Given the description of an element on the screen output the (x, y) to click on. 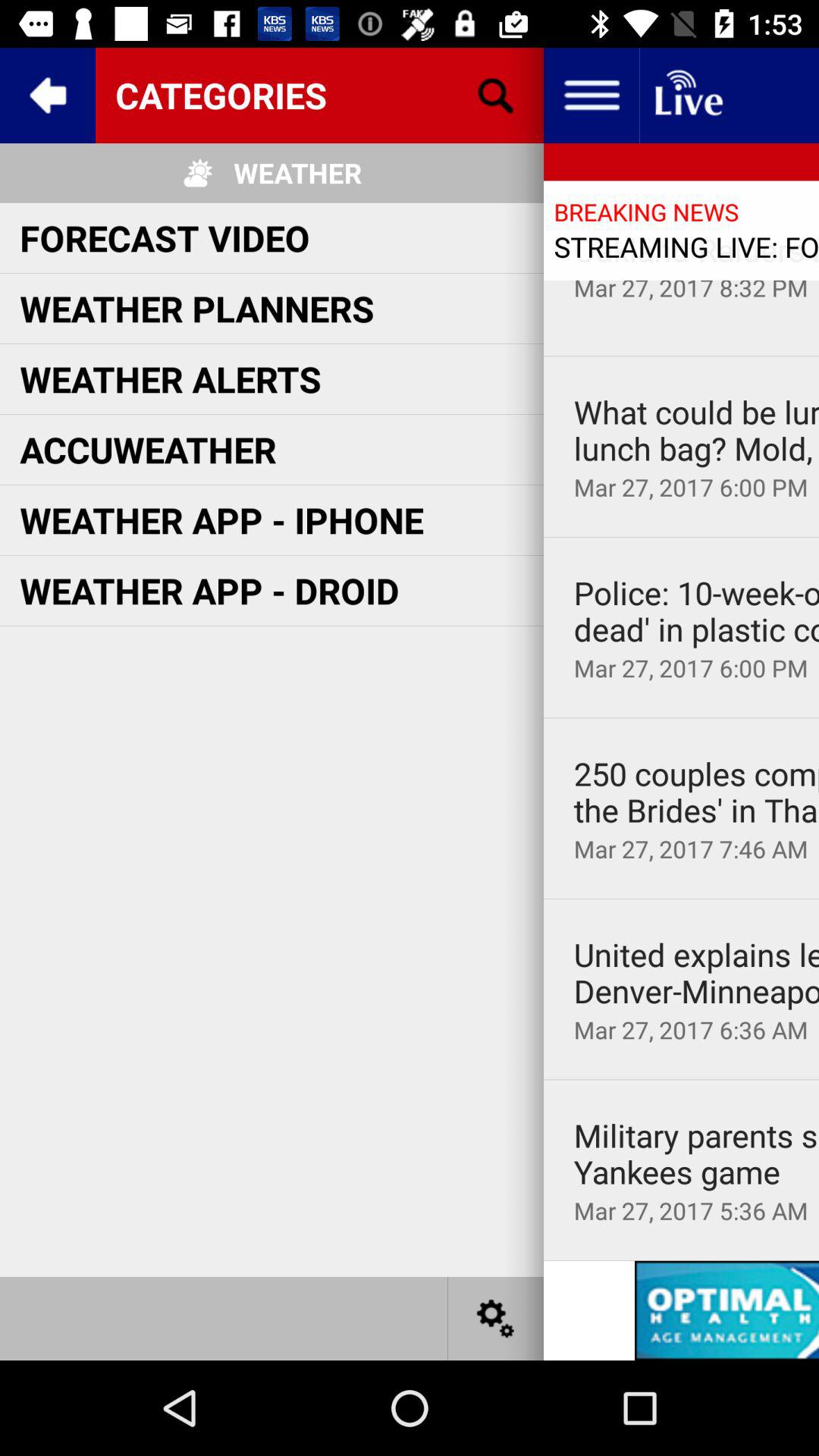
flip until 250 couples compete item (696, 791)
